Given the description of an element on the screen output the (x, y) to click on. 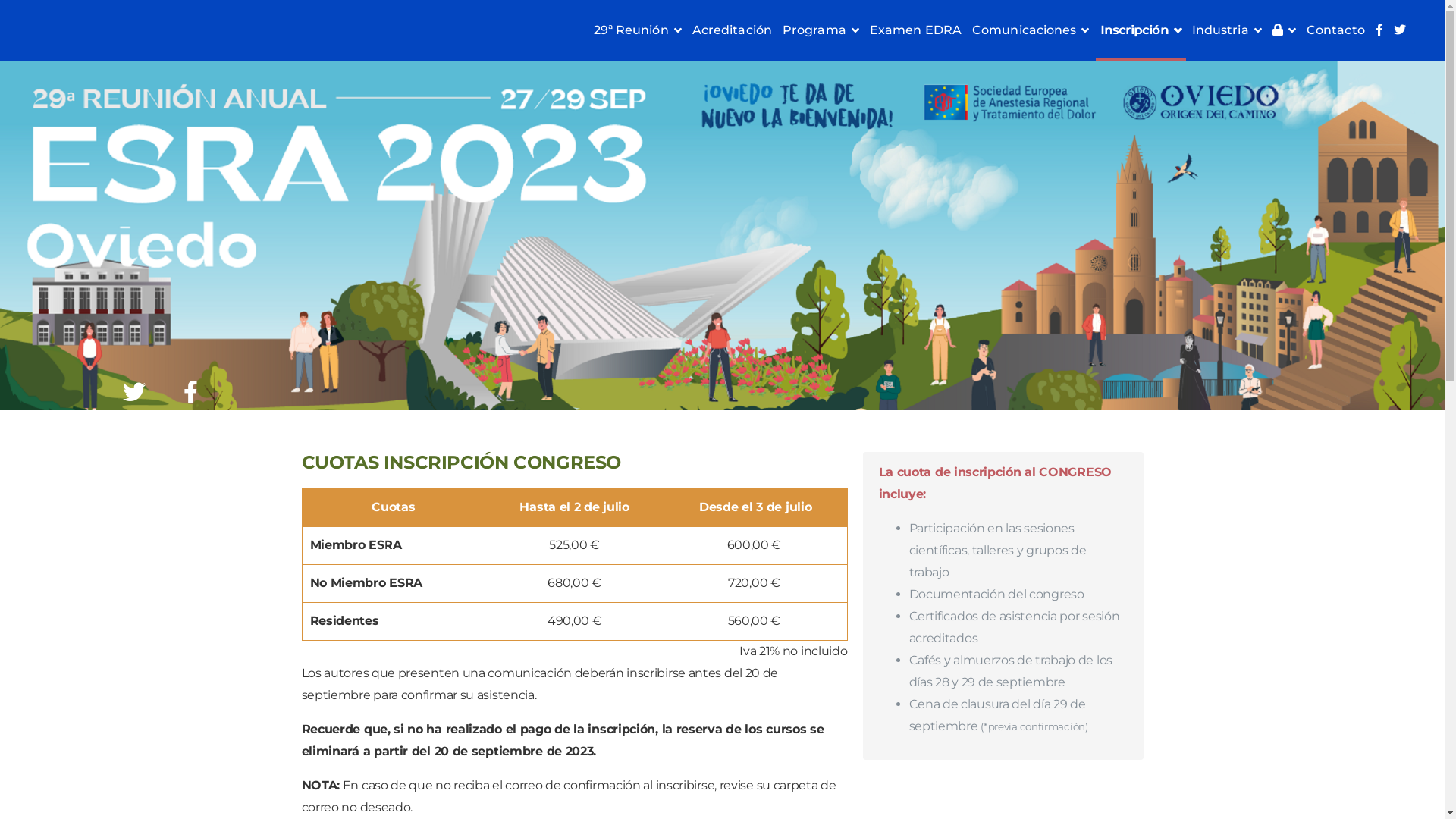
Icon group item Element type: hover (190, 391)
Comunicaciones Element type: text (1030, 30)
Industria Element type: text (1226, 30)
Programa Element type: text (820, 30)
Icon group item Element type: hover (133, 391)
Examen EDRA Element type: text (915, 30)
Contacto Element type: text (1335, 30)
